Given the description of an element on the screen output the (x, y) to click on. 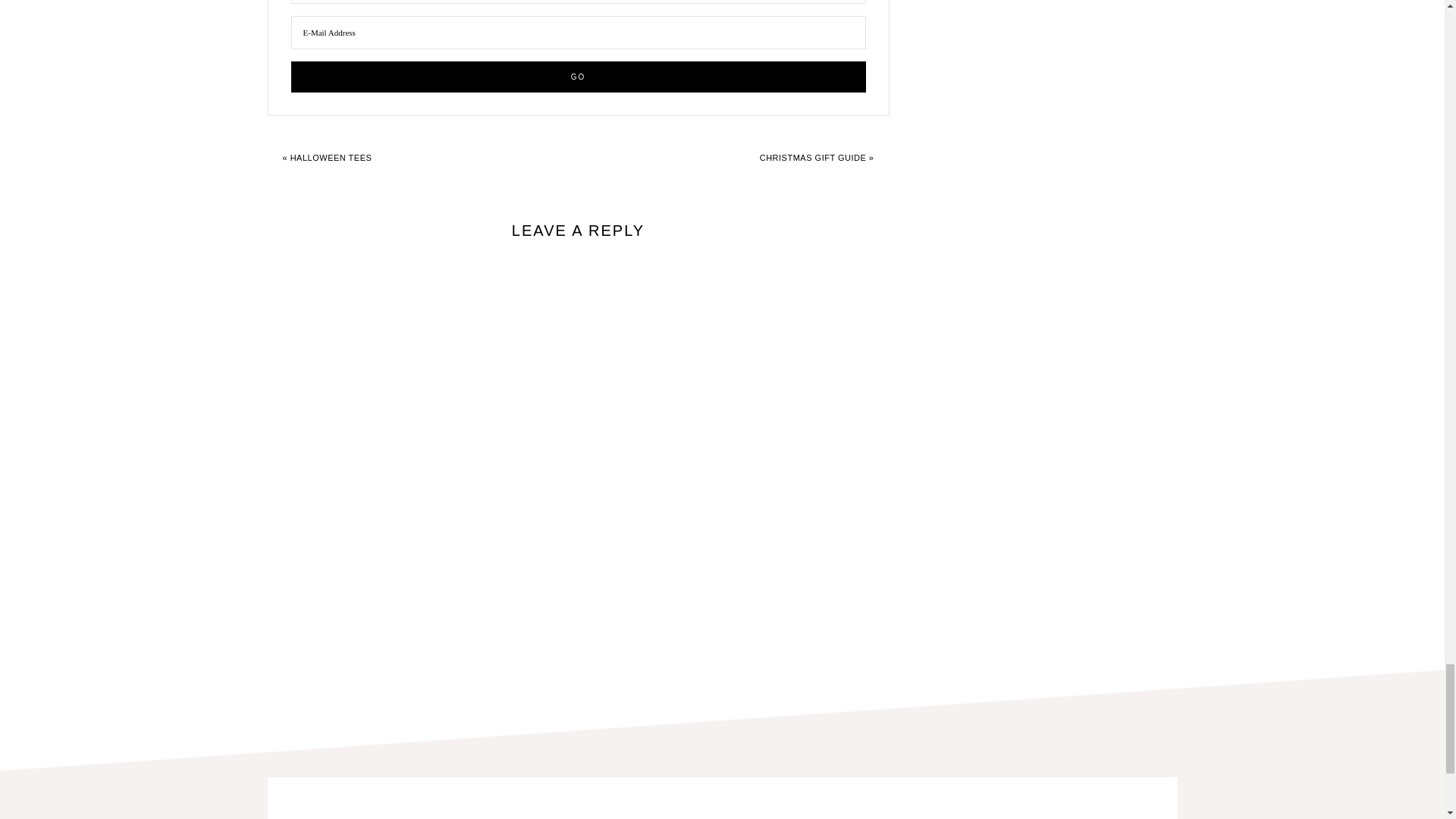
Go (578, 76)
Go (578, 76)
